Given the description of an element on the screen output the (x, y) to click on. 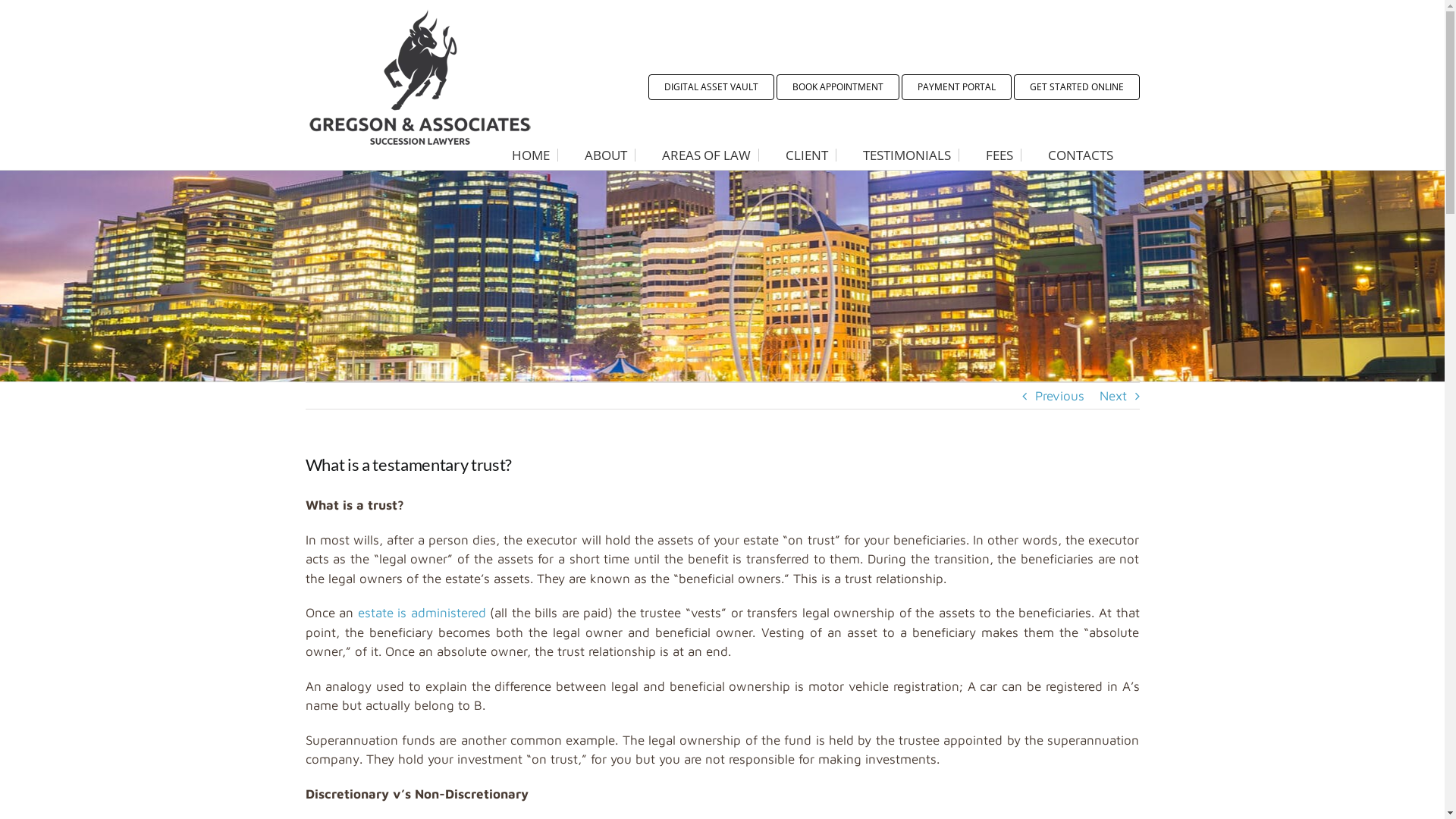
CONTACTS Element type: text (1080, 154)
CLIENT Element type: text (807, 154)
TESTIMONIALS Element type: text (907, 154)
estate is administered Element type: text (421, 612)
FEES Element type: text (999, 154)
DIGITAL ASSET VAULT Element type: text (710, 87)
BOOK APPOINTMENT Element type: text (837, 87)
PAYMENT PORTAL Element type: text (955, 87)
HOME Element type: text (530, 154)
Next Element type: text (1112, 395)
ABOUT Element type: text (605, 154)
Previous Element type: text (1058, 395)
GET STARTED ONLINE Element type: text (1076, 87)
AREAS OF LAW Element type: text (705, 154)
